Given the description of an element on the screen output the (x, y) to click on. 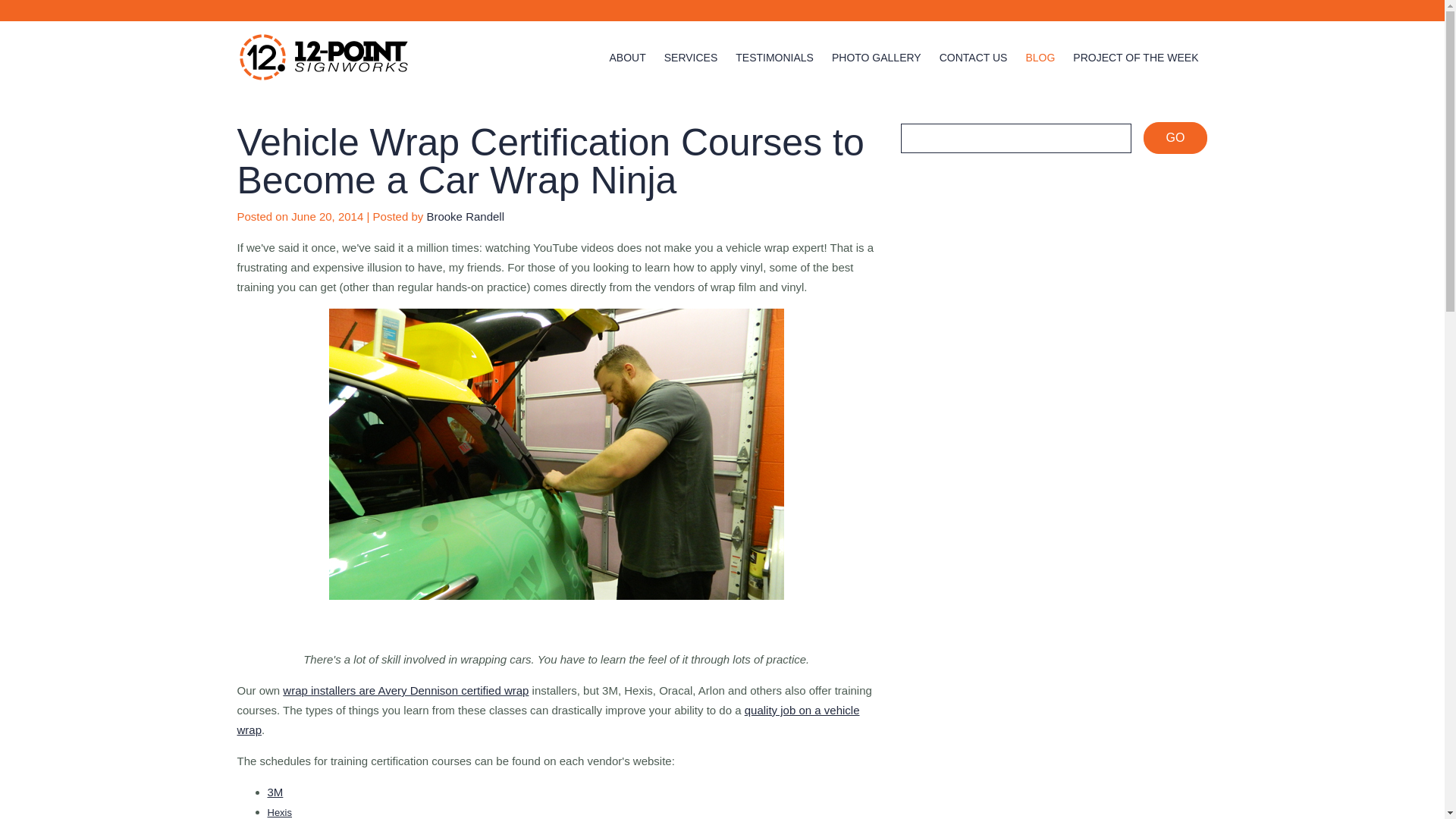
TESTIMONIALS (774, 57)
BLOG (1039, 57)
CONTACT US (973, 57)
Hexis (279, 812)
PHOTO GALLERY (876, 57)
logo.png (322, 57)
3M (274, 791)
quality job on a vehicle wrap (547, 719)
SERVICES (690, 57)
ABOUT (626, 57)
